Given the description of an element on the screen output the (x, y) to click on. 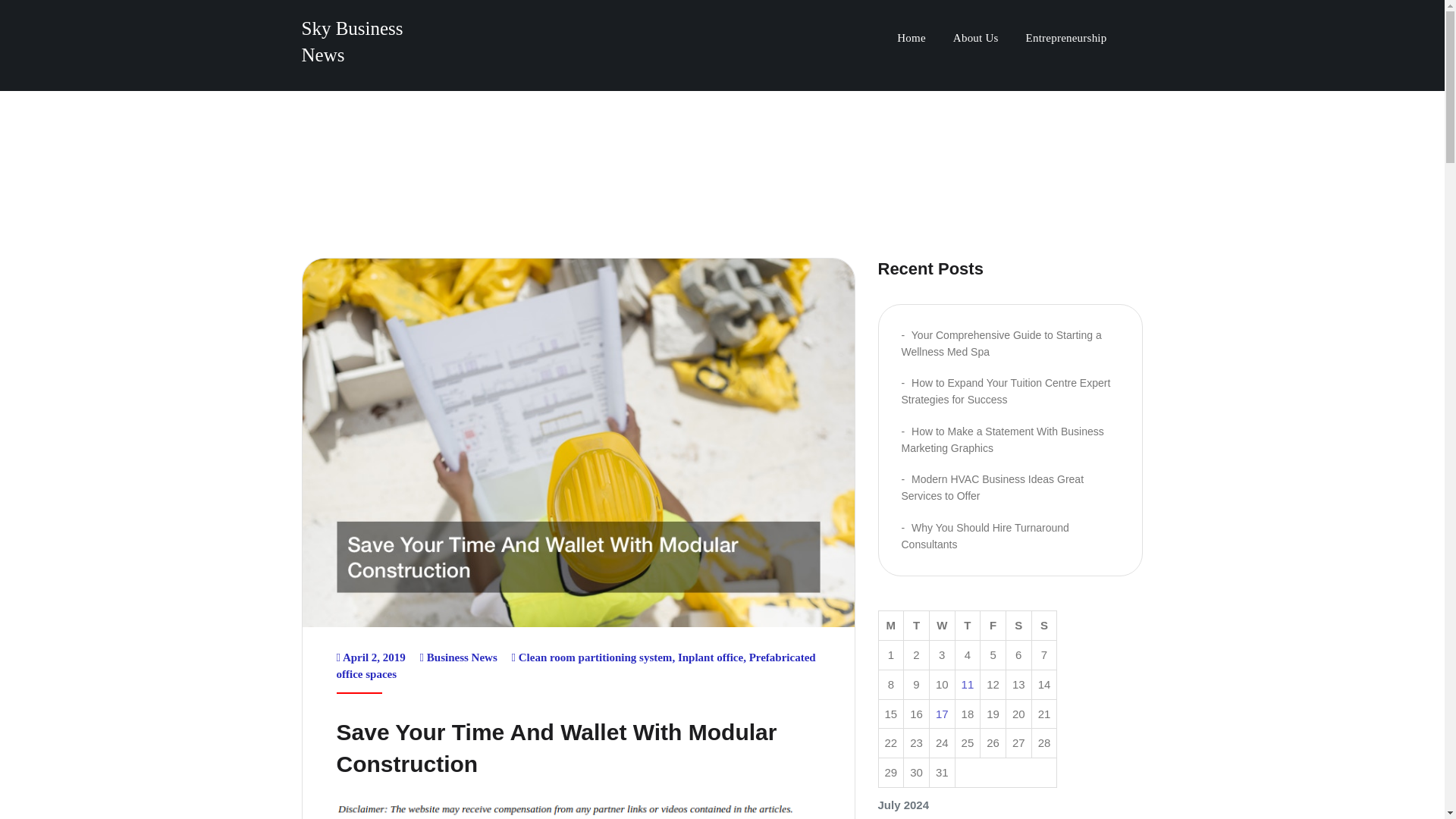
Clean room partitioning system (595, 657)
17 (942, 713)
About Us (975, 38)
Why You Should Hire Turnaround Consultants (984, 535)
Prefabricated office spaces (575, 665)
Tuesday (917, 625)
How to Make a Statement With Business Marketing Graphics (1002, 439)
Wednesday (941, 625)
Posts by Business News (461, 657)
Your Comprehensive Guide to Starting a Wellness Med Spa (1000, 343)
Business News (461, 657)
Monday (890, 625)
Entrepreneurship (1066, 38)
